Given the description of an element on the screen output the (x, y) to click on. 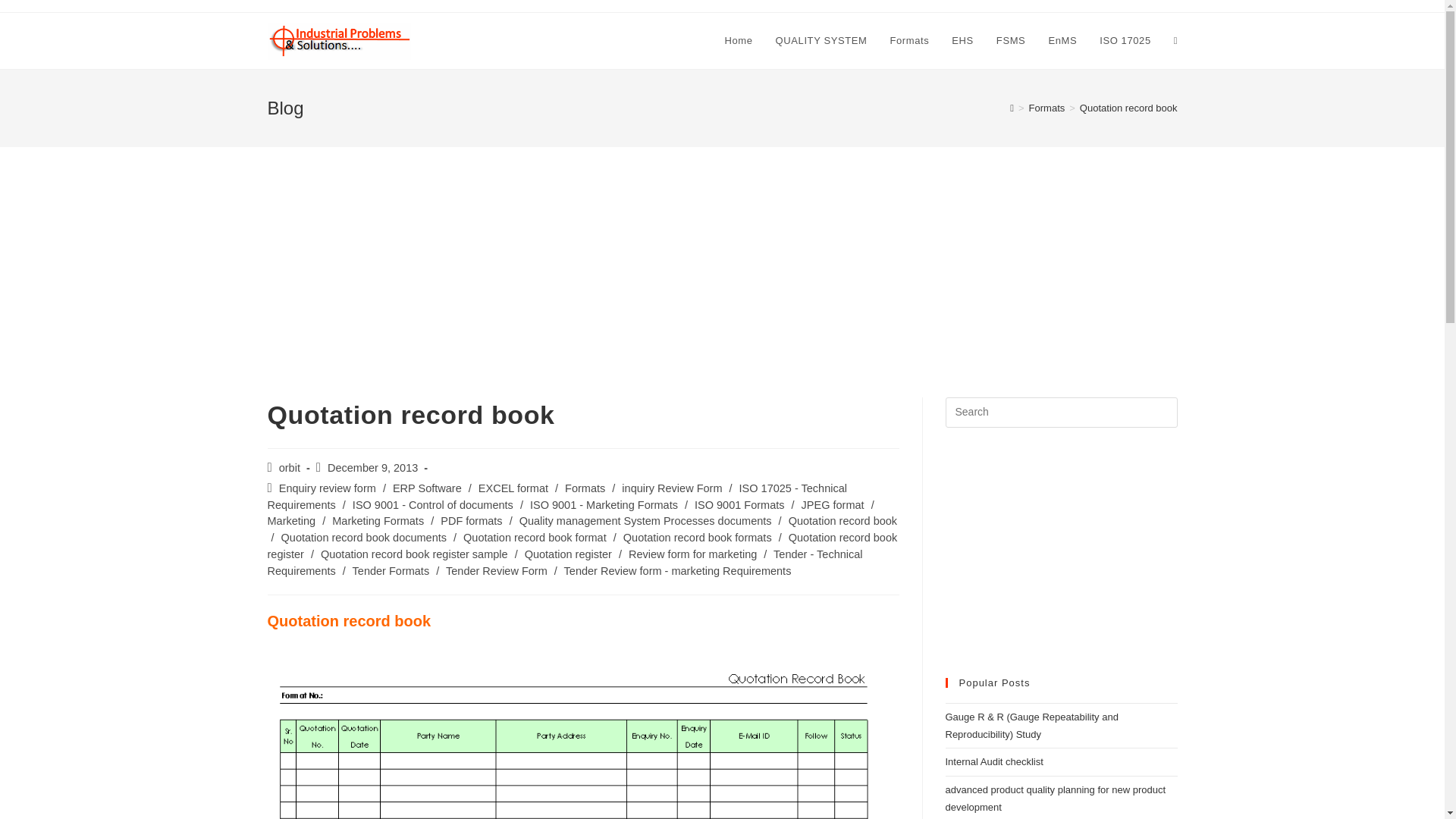
Formats (1047, 107)
FSMS (1010, 40)
PDF formats (471, 521)
JPEG format (833, 504)
EXCEL format (513, 488)
Quotation record book (842, 521)
ISO 9001 Formats (739, 504)
Marketing (290, 521)
Home (738, 40)
ISO 17025 (1124, 40)
